Given the description of an element on the screen output the (x, y) to click on. 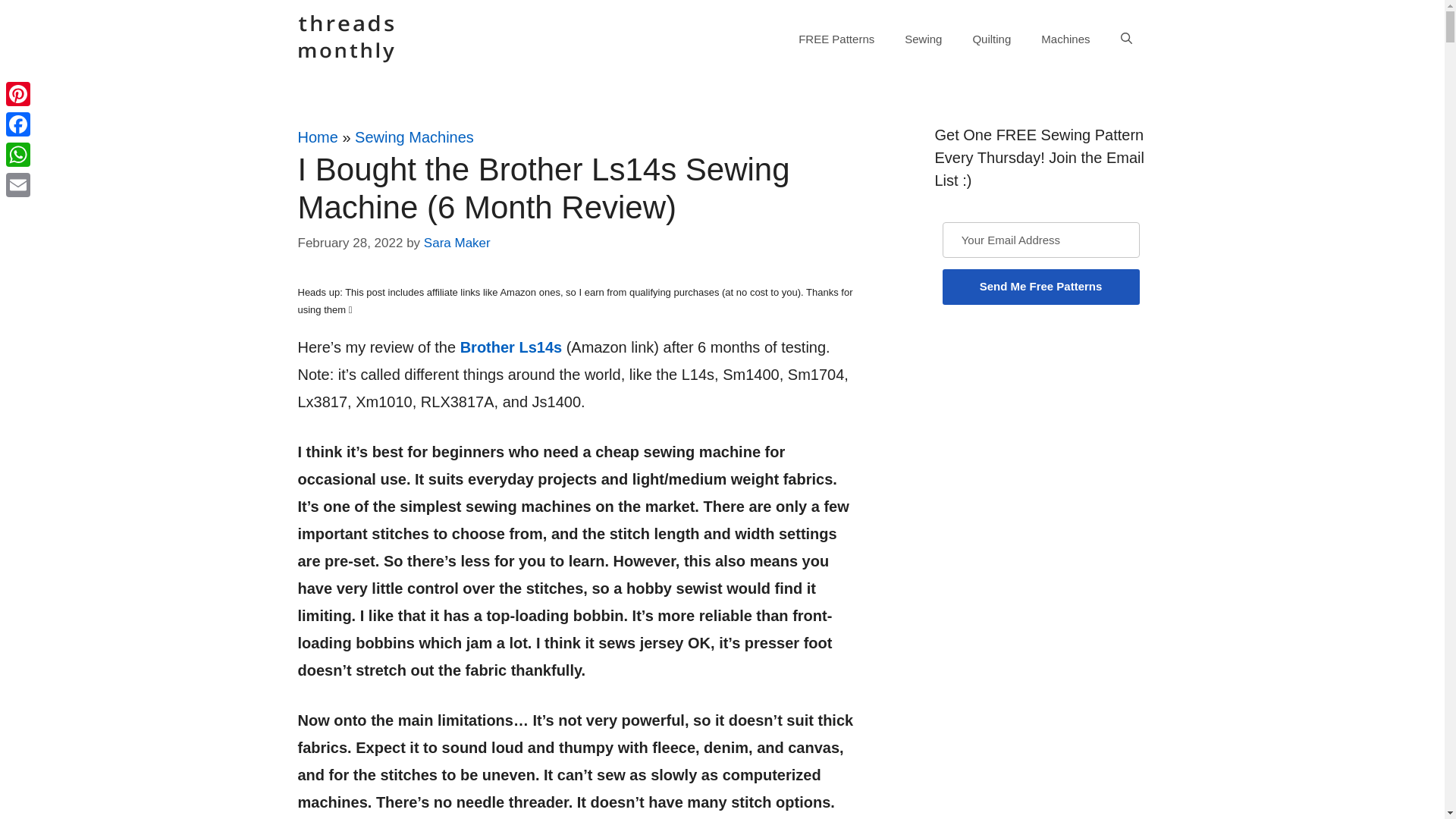
FREE Patterns (836, 39)
Sara Maker (456, 242)
Sewing Machines (414, 136)
Home (317, 136)
View all posts by Sara Maker (456, 242)
Brother Ls14s (511, 347)
Home (317, 136)
Sewing (922, 39)
Quilting (991, 39)
Sewing Machines (414, 136)
